Given the description of an element on the screen output the (x, y) to click on. 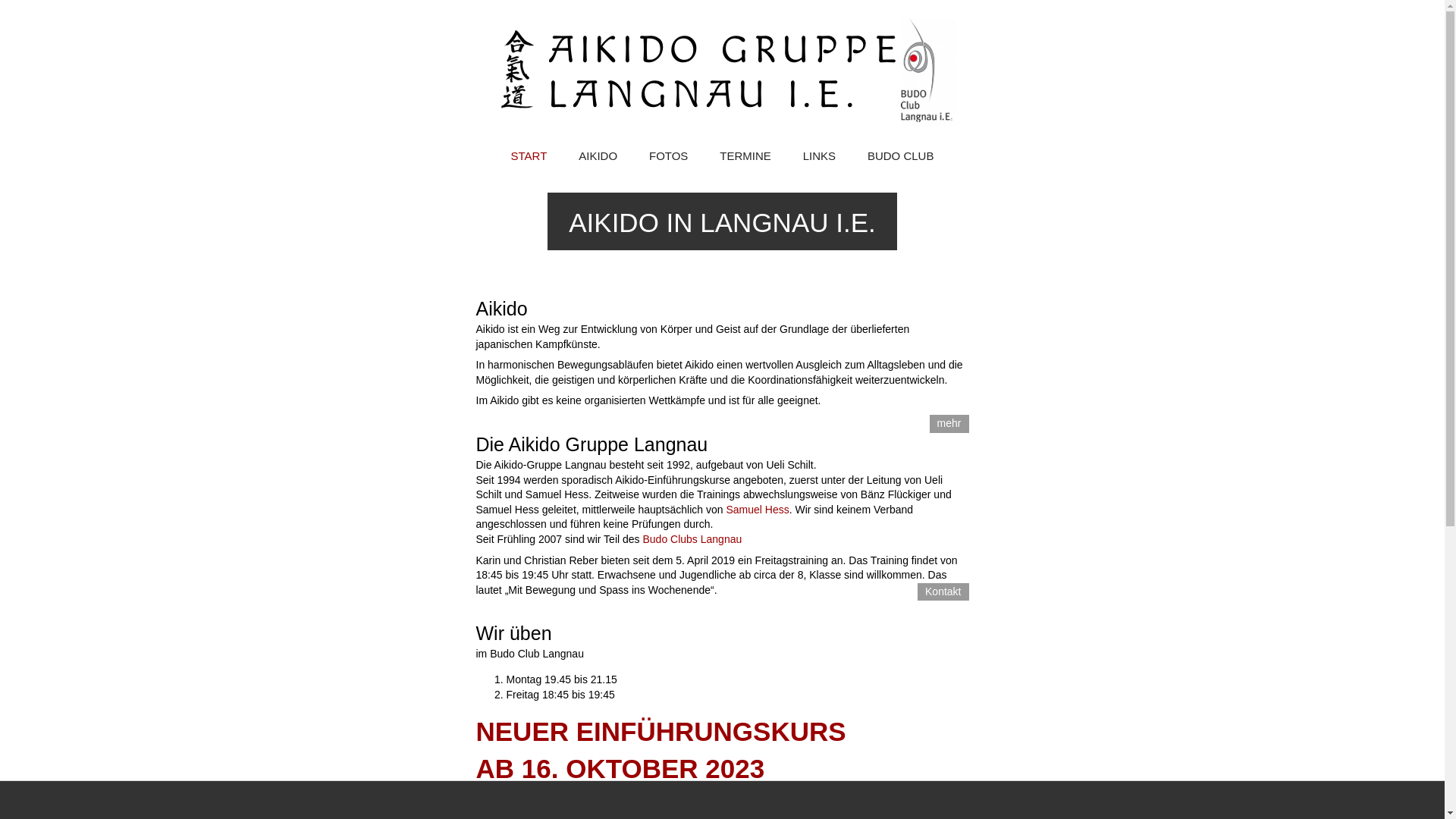
FOTOS Element type: text (668, 156)
Budo Clubs Langnau Element type: text (691, 539)
Samuel Hess Element type: text (756, 509)
BUDO CLUB Element type: text (900, 156)
Kontakt Element type: text (942, 592)
START Element type: text (529, 156)
Plan Element type: text (949, 796)
TERMINE Element type: text (745, 156)
LINKS Element type: text (819, 156)
mehr Element type: text (949, 423)
AIKIDO Element type: text (597, 156)
